Given the description of an element on the screen output the (x, y) to click on. 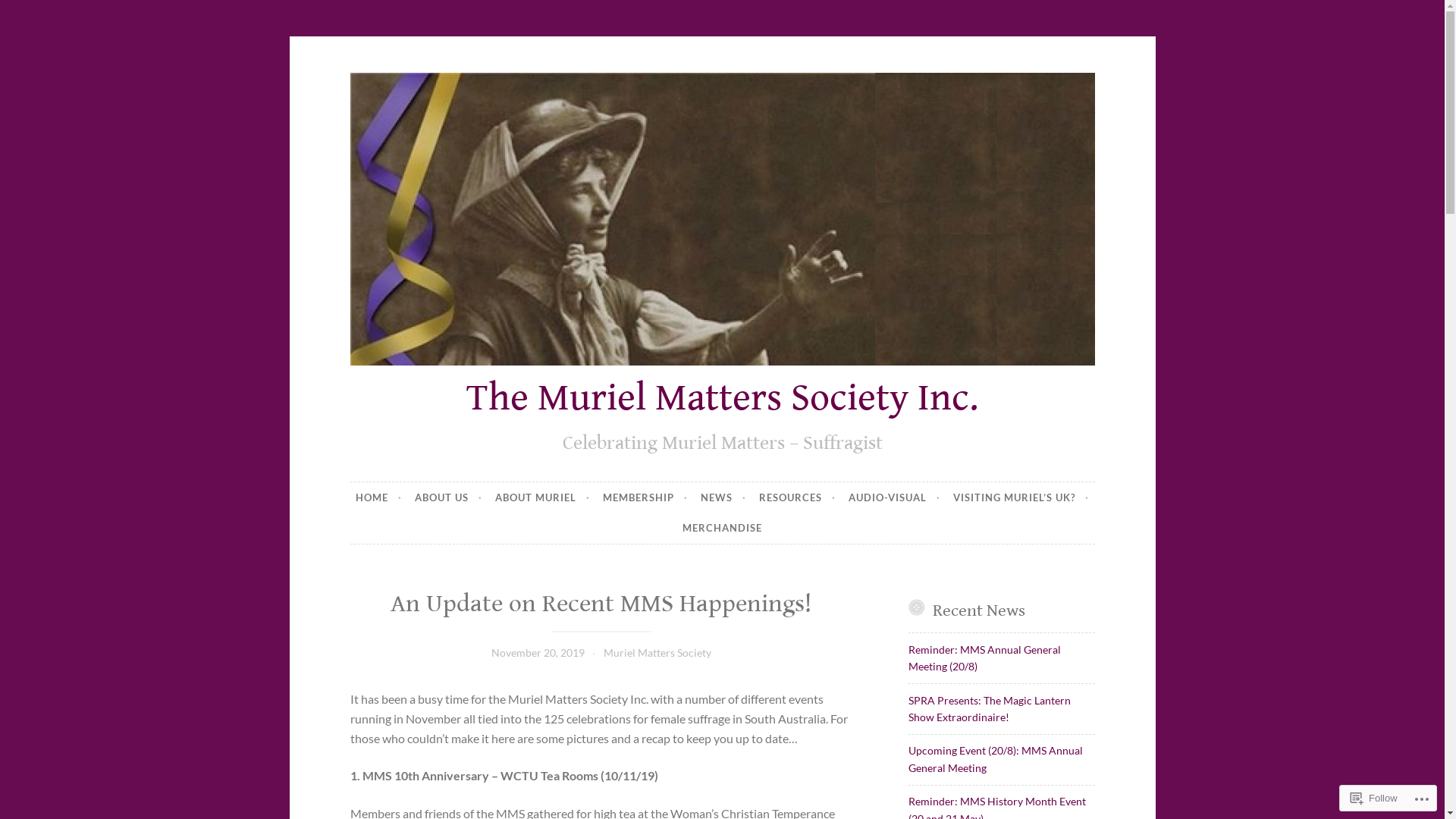
SPRA Presents: The Magic Lantern Show Extraordinaire! Element type: text (989, 708)
Upcoming Event (20/8): MMS Annual General Meeting Element type: text (995, 758)
RESOURCES Element type: text (797, 497)
NEWS Element type: text (723, 497)
ABOUT MURIEL Element type: text (542, 497)
Follow Element type: text (1373, 797)
November 20, 2019 Element type: text (537, 652)
MEMBERSHIP Element type: text (644, 497)
HOME Element type: text (378, 497)
The Muriel Matters Society Inc. Element type: text (722, 398)
MERCHANDISE Element type: text (722, 528)
Reminder: MMS Annual General Meeting (20/8) Element type: text (984, 657)
Muriel Matters Society Element type: text (657, 652)
ABOUT US Element type: text (448, 497)
AUDIO-VISUAL Element type: text (894, 497)
